Given the description of an element on the screen output the (x, y) to click on. 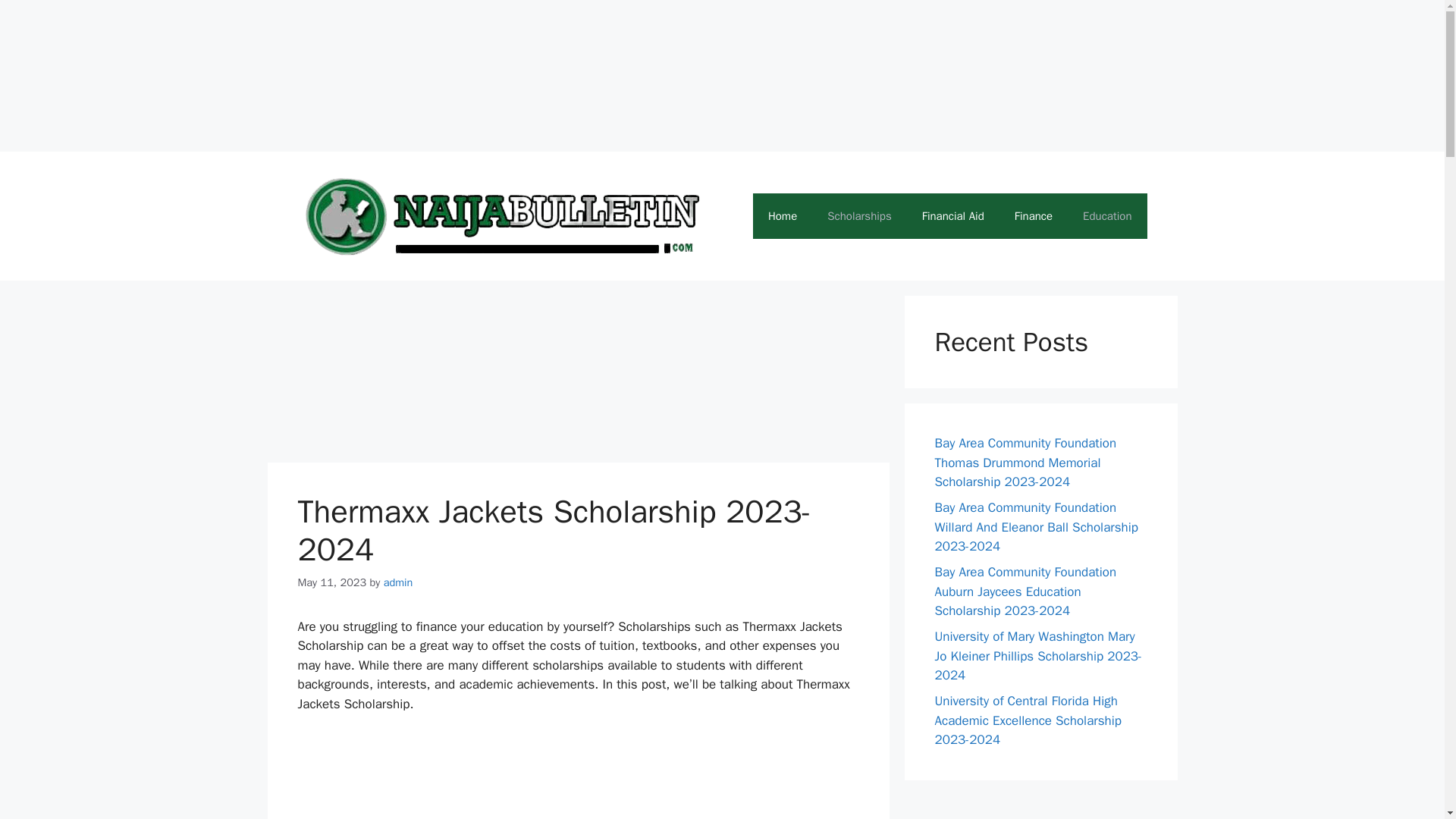
Home (782, 216)
View all posts by admin (398, 581)
Education (1107, 216)
Finance (1032, 216)
Financial Aid (952, 216)
Scholarships (858, 216)
admin (398, 581)
